Given the description of an element on the screen output the (x, y) to click on. 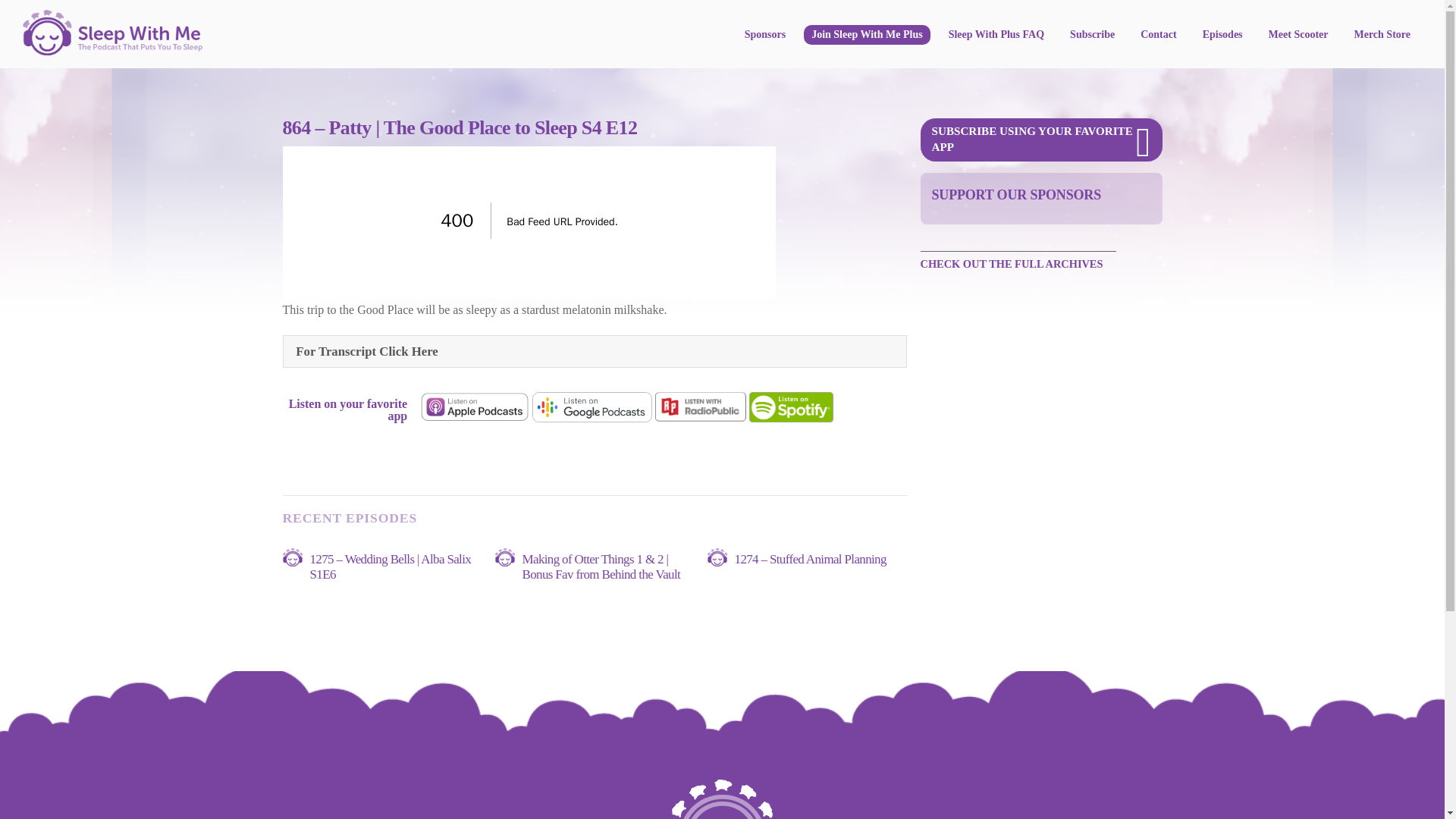
For Transcript Click Here (595, 350)
Sleep With Me (722, 799)
Sleep With Me (112, 32)
Meet Scooter (1298, 35)
Subscribe (1092, 35)
Join Sleep With Me Plus (866, 35)
Sleep With Me (112, 48)
SUBSCRIBE USING YOUR FAVORITE APP (1040, 139)
Sleep With Plus FAQ (995, 35)
Contact (1157, 35)
Episodes (1222, 35)
Merch Store (1381, 35)
Sponsors (764, 35)
CHECK OUT THE FULL ARCHIVES (1018, 263)
